Given the description of an element on the screen output the (x, y) to click on. 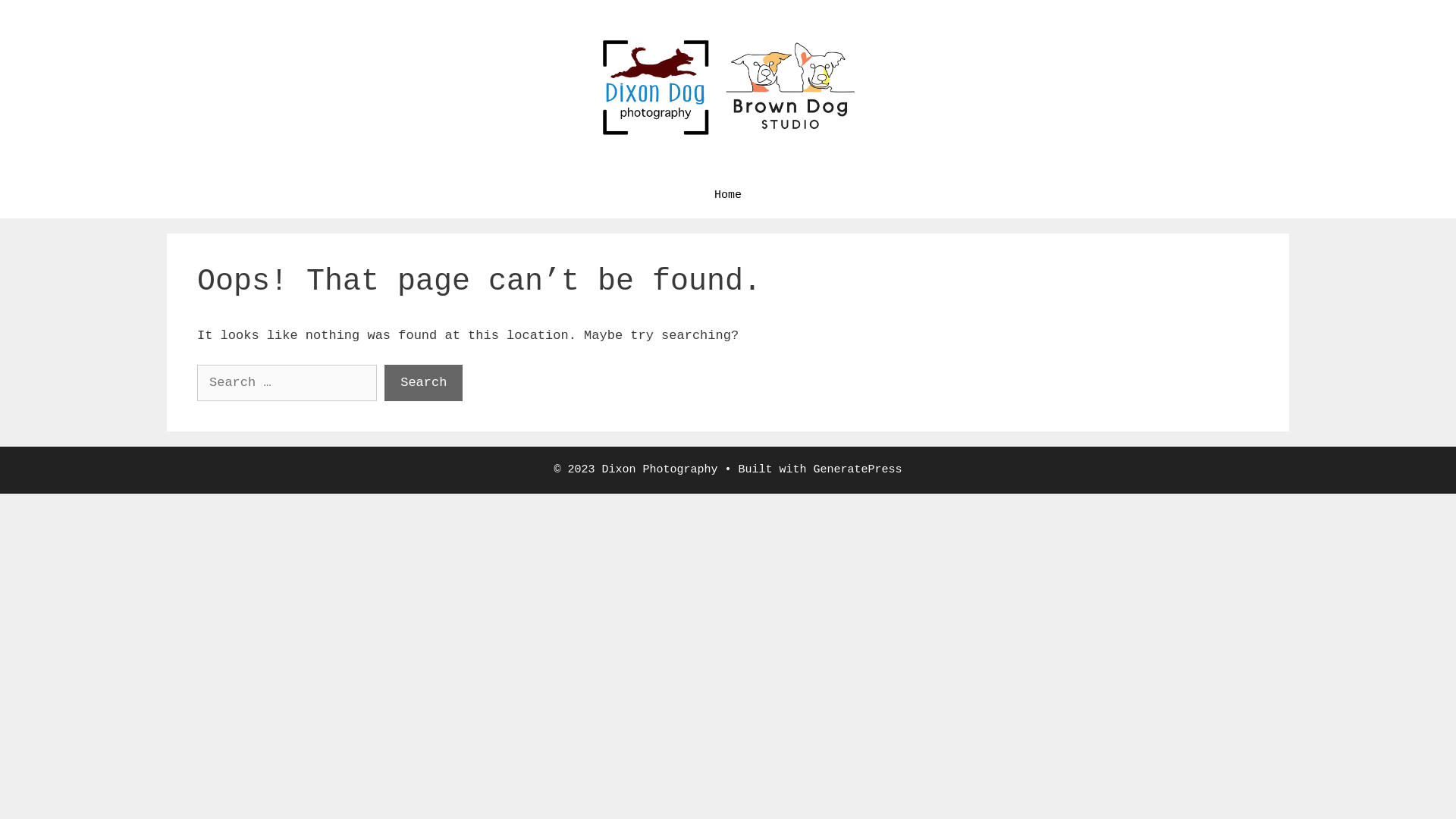
GeneratePress Element type: text (857, 469)
Dixon Photography Element type: hover (727, 86)
Dixon Photography Element type: hover (727, 86)
Search Element type: text (423, 382)
Home Element type: text (727, 195)
Search for: Element type: hover (286, 382)
